Given the description of an element on the screen output the (x, y) to click on. 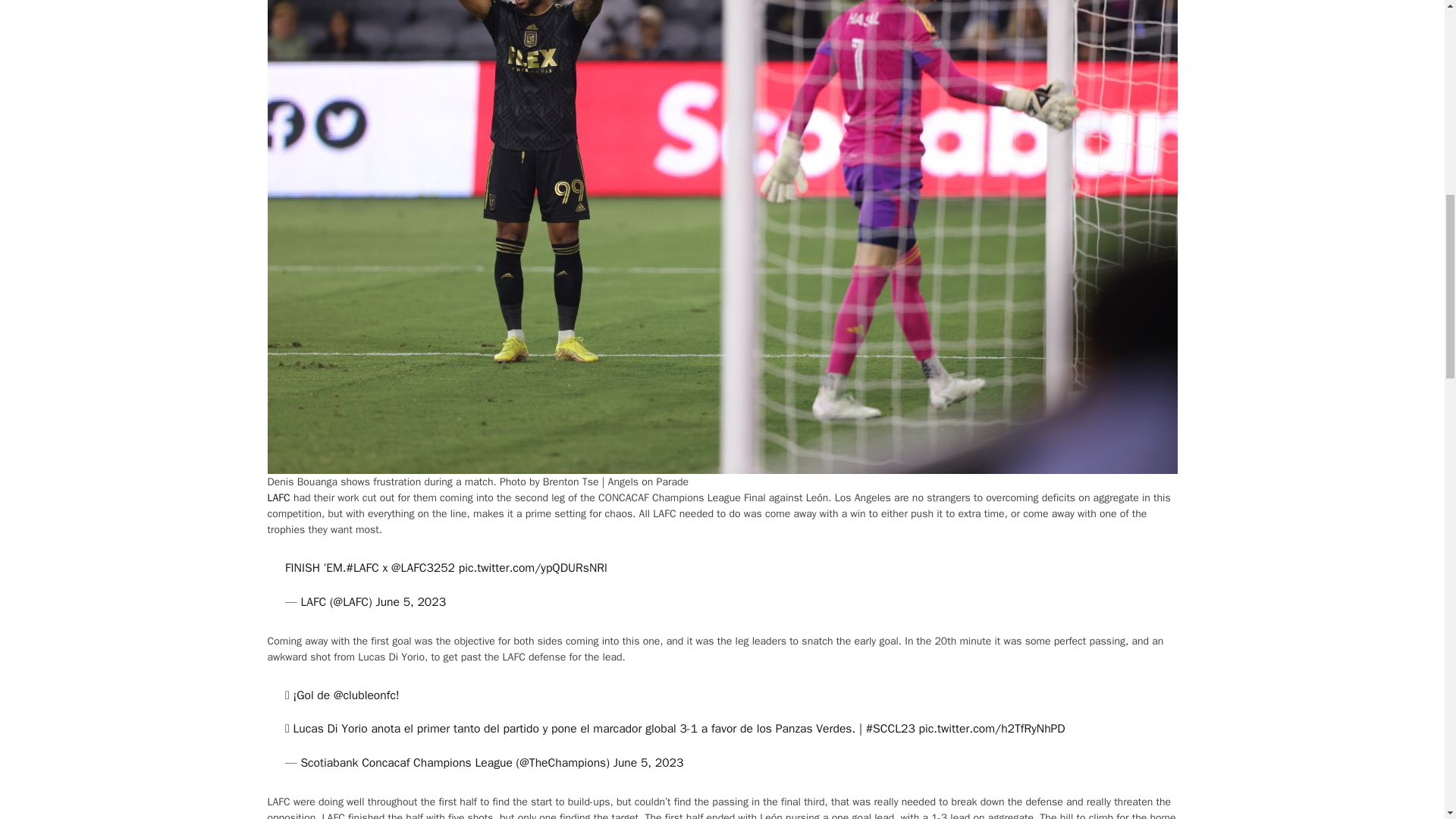
LAFC (277, 497)
June 5, 2023 (410, 601)
June 5, 2023 (648, 762)
